Given the description of an element on the screen output the (x, y) to click on. 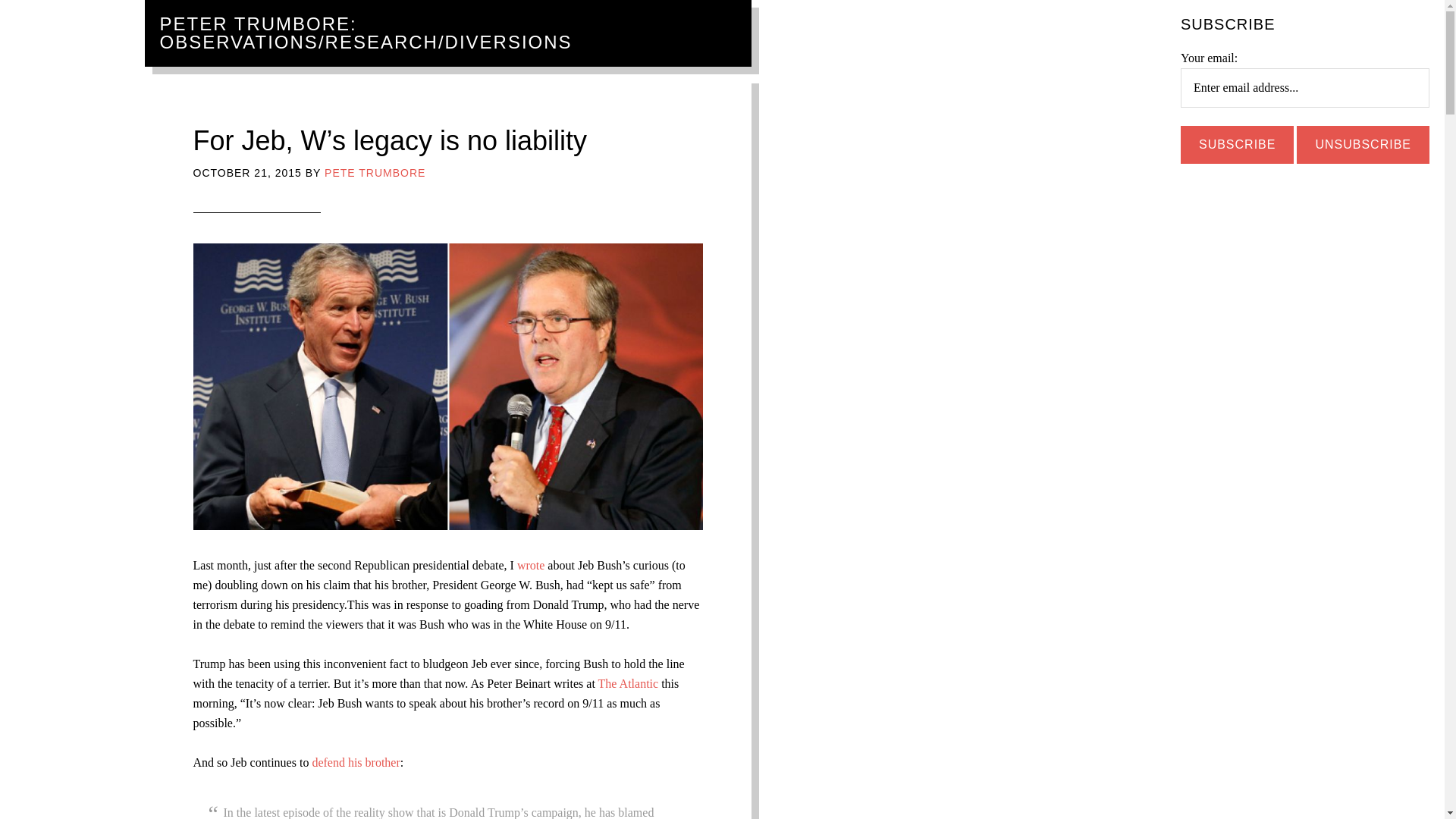
PETE TRUMBORE (374, 173)
Subscribe (1237, 144)
Unsubscribe (1363, 144)
defend his brother (354, 762)
wrote (531, 564)
Subscribe (1237, 144)
The Atlantic (628, 683)
Enter email address... (1304, 87)
Unsubscribe (1363, 144)
